Given the description of an element on the screen output the (x, y) to click on. 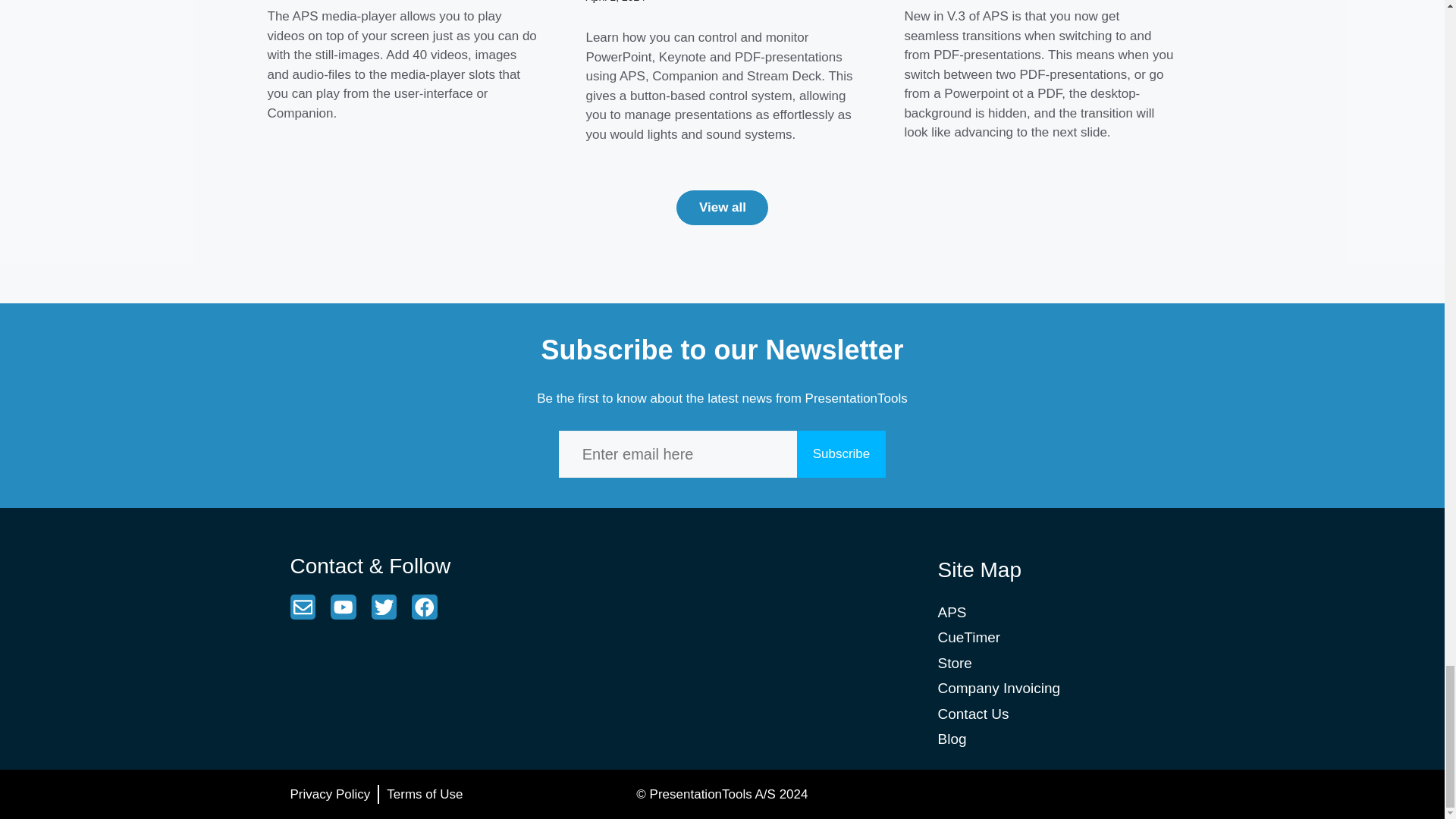
APS (951, 611)
CueTimer (968, 637)
View all (721, 207)
Subscribe (841, 453)
Subscribe (841, 453)
